Given the description of an element on the screen output the (x, y) to click on. 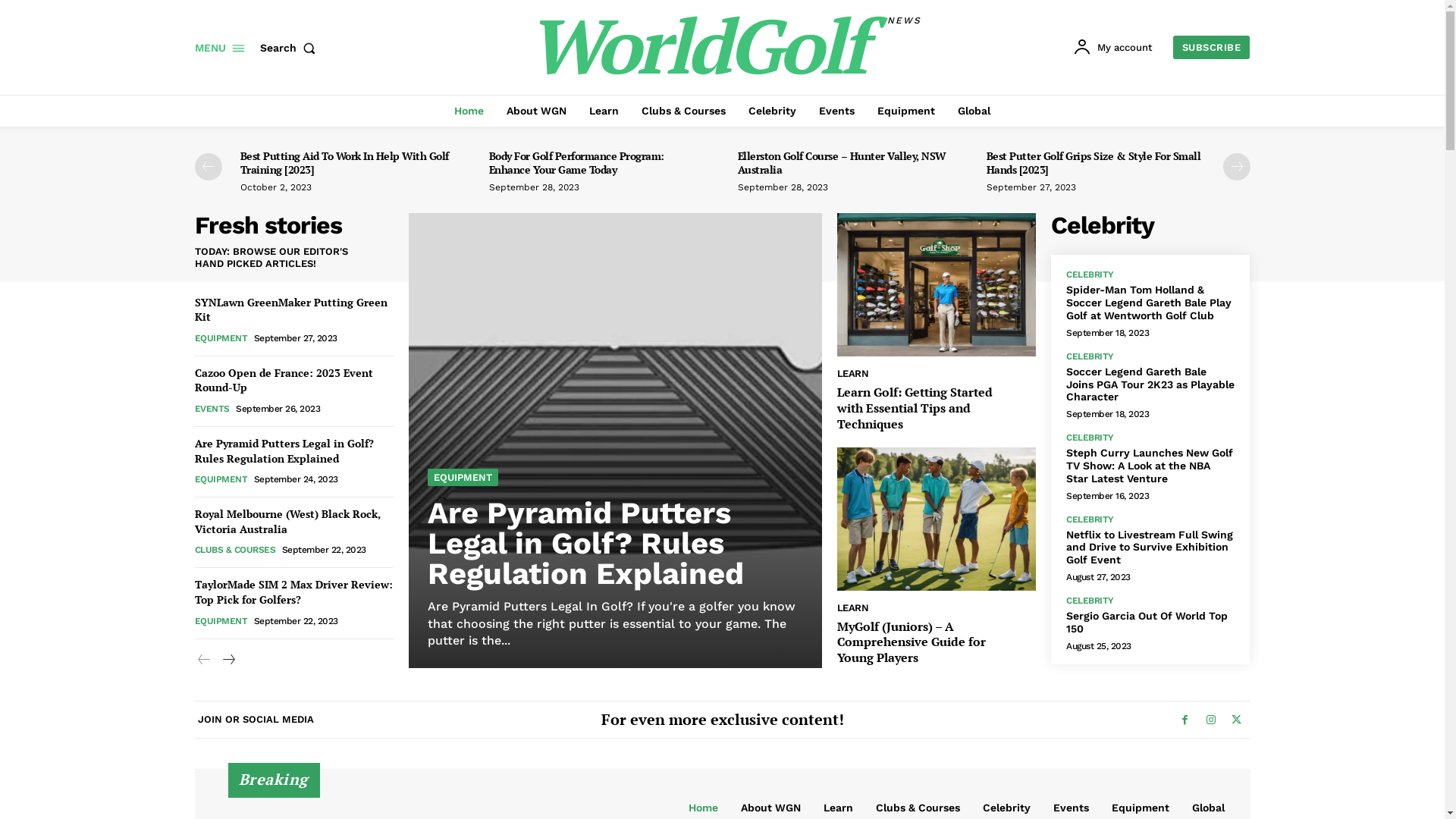
CELEBRITY Element type: text (1089, 519)
LEARN Element type: text (853, 607)
CELEBRITY Element type: text (1089, 274)
Body For Golf Performance Program: Enhance Your Game Today Element type: text (575, 162)
TaylorMade SIM 2 Max Driver Review: Top Pick for Golfers? Element type: text (293, 591)
Clubs & Courses Element type: text (683, 110)
Learn Element type: text (603, 110)
EVENTS Element type: text (211, 408)
EQUIPMENT Element type: text (462, 477)
Events Element type: text (836, 110)
EQUIPMENT Element type: text (220, 338)
EQUIPMENT Element type: text (220, 479)
Global Element type: text (973, 110)
Best Putting Aid To Work In Help With Golf Training [2023] Element type: text (343, 162)
Instagram Element type: hover (1209, 720)
SUBSCRIBE Element type: text (1211, 46)
Celebrity Element type: text (771, 110)
Royal Melbourne (West) Black Rock, Victoria Australia Element type: text (286, 521)
CELEBRITY Element type: text (1089, 437)
CLUBS & COURSES Element type: text (234, 549)
Facebook Element type: hover (1184, 720)
CELEBRITY Element type: text (1089, 355)
Sergio Garcia Out Of World Top 150 Element type: text (1146, 621)
Home Element type: text (468, 110)
Equipment Element type: text (905, 110)
MENU Element type: text (219, 47)
SYNLawn GreenMaker Putting Green Kit Element type: text (290, 309)
CELEBRITY Element type: text (1089, 600)
About WGN Element type: text (536, 110)
WorldGolf
NEWS Element type: text (723, 45)
Cazoo Open de France: 2023 Event Round-Up Element type: text (283, 380)
Twitter Element type: hover (1235, 720)
EQUIPMENT Element type: text (220, 620)
Best Putter Golf Grips Size & Style For Small Hands [2023] Element type: text (1092, 162)
LEARN Element type: text (853, 373)
Search Element type: text (290, 47)
